Given the description of an element on the screen output the (x, y) to click on. 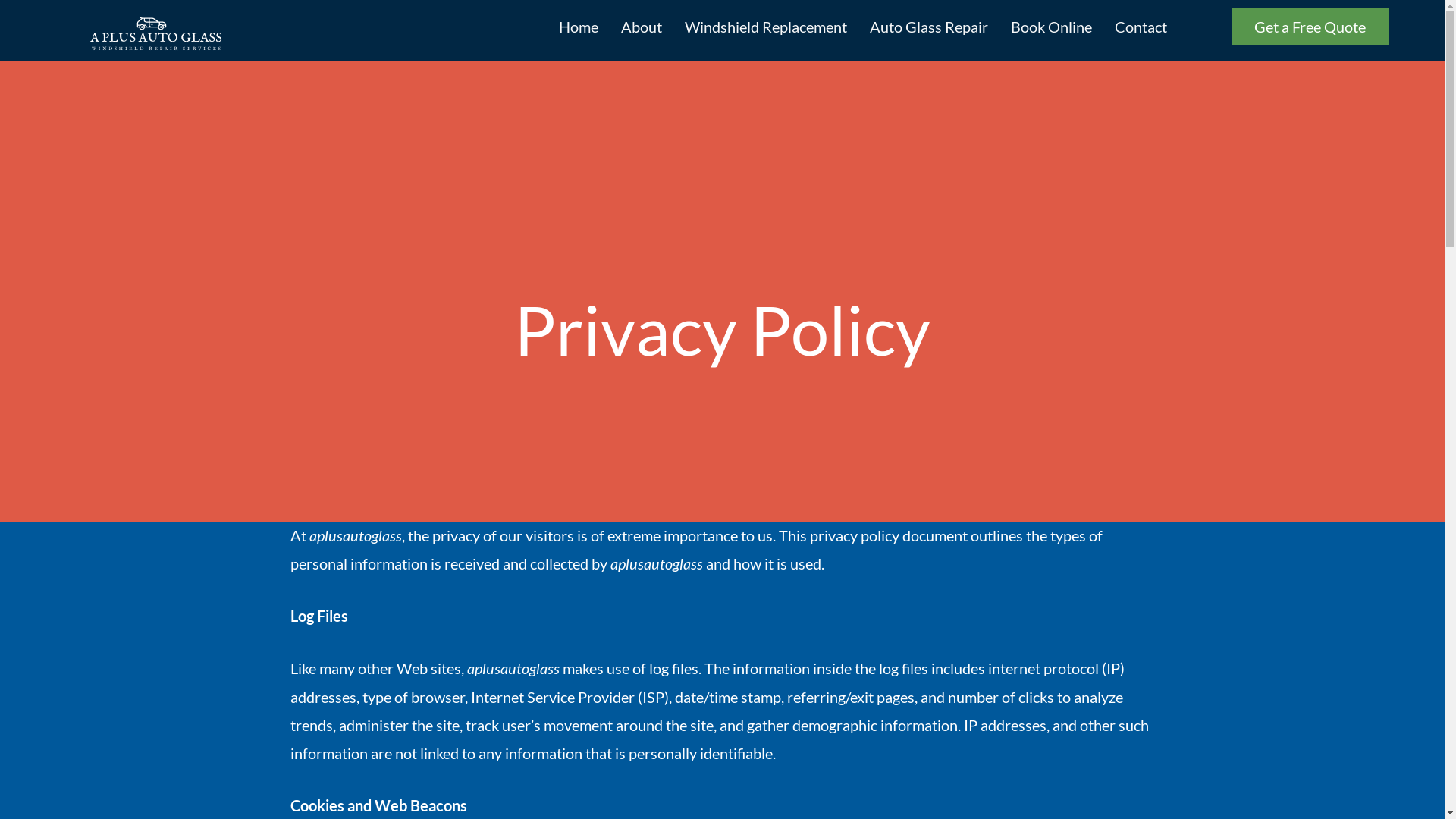
Get a Free Quote Element type: text (1309, 26)
Home Element type: text (578, 26)
Contact Element type: text (1140, 26)
Windshield Replacement Element type: text (765, 26)
Book Online Element type: text (1051, 26)
About Element type: text (641, 26)
Auto Glass Repair Element type: text (928, 26)
